Given the description of an element on the screen output the (x, y) to click on. 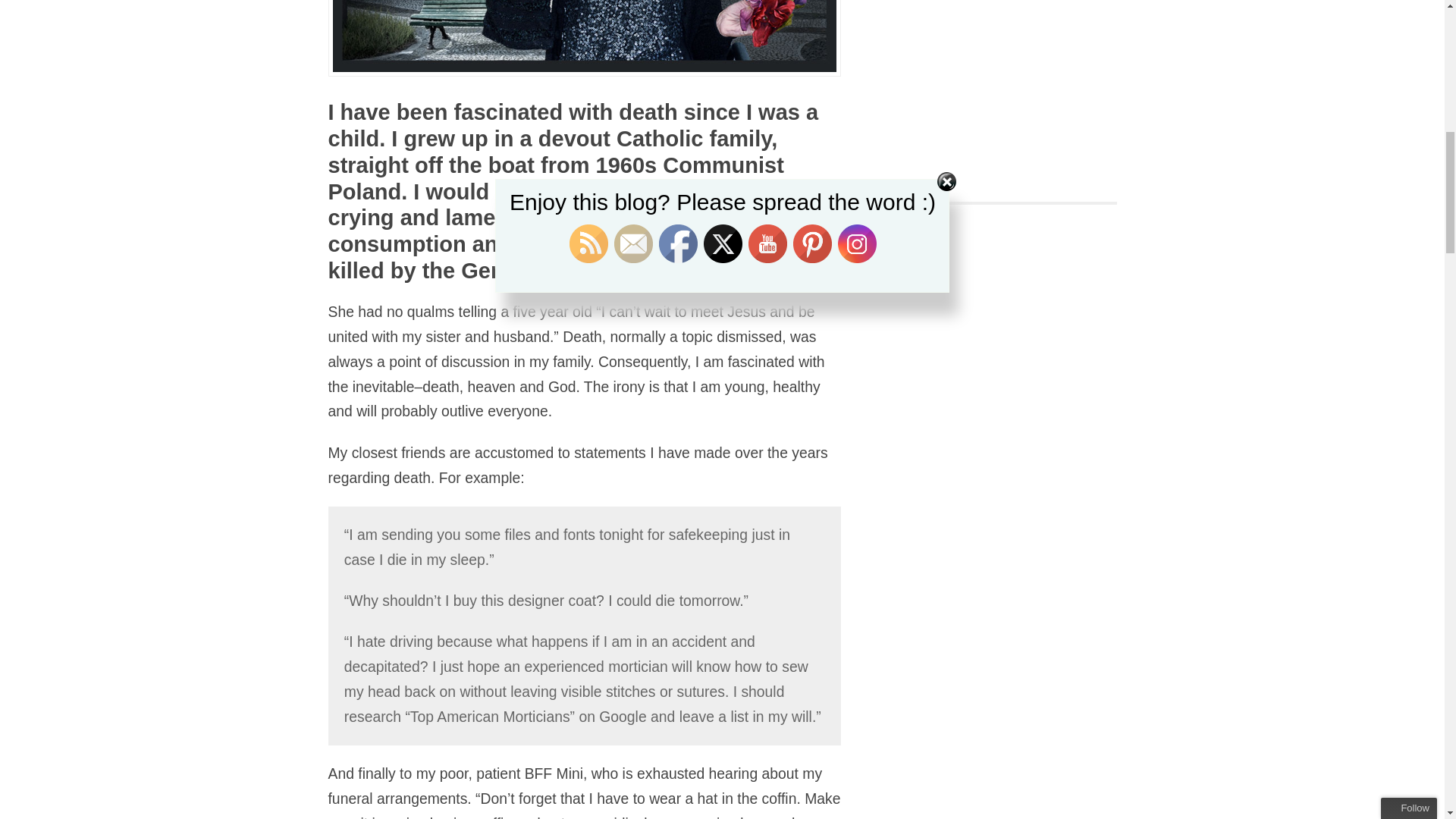
Enter email address (1368, 111)
Advertisement (1012, 81)
Subscribe (1360, 139)
